Given the description of an element on the screen output the (x, y) to click on. 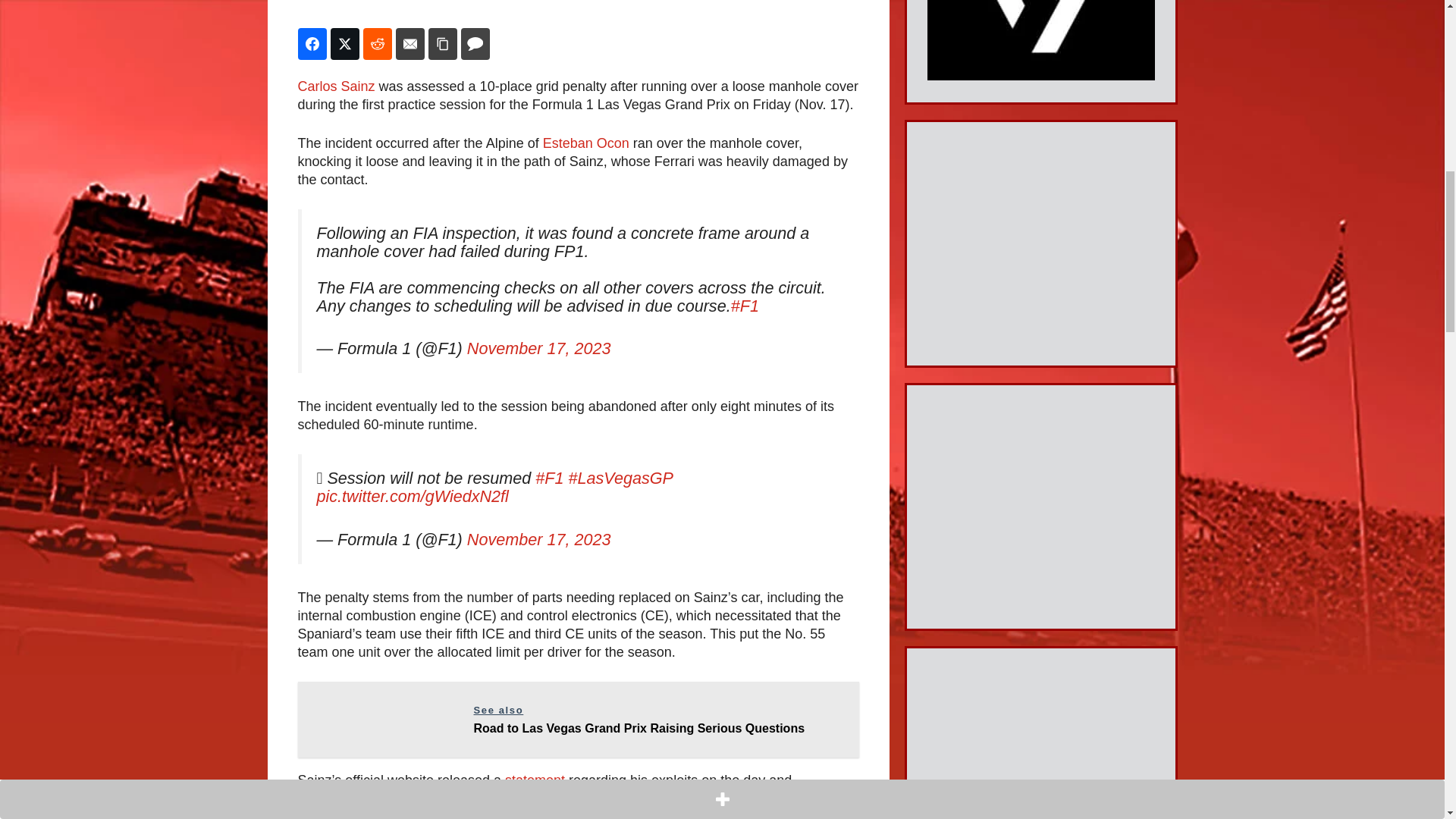
November 17, 2023 (539, 538)
Carlos Sainz (335, 86)
Share on Facebook (311, 43)
Esteban Ocon (585, 142)
Share on Twitter (344, 43)
Share on Email (410, 43)
Share on Copy Link (442, 43)
Share on Reddit (376, 43)
statement (537, 780)
